Given the description of an element on the screen output the (x, y) to click on. 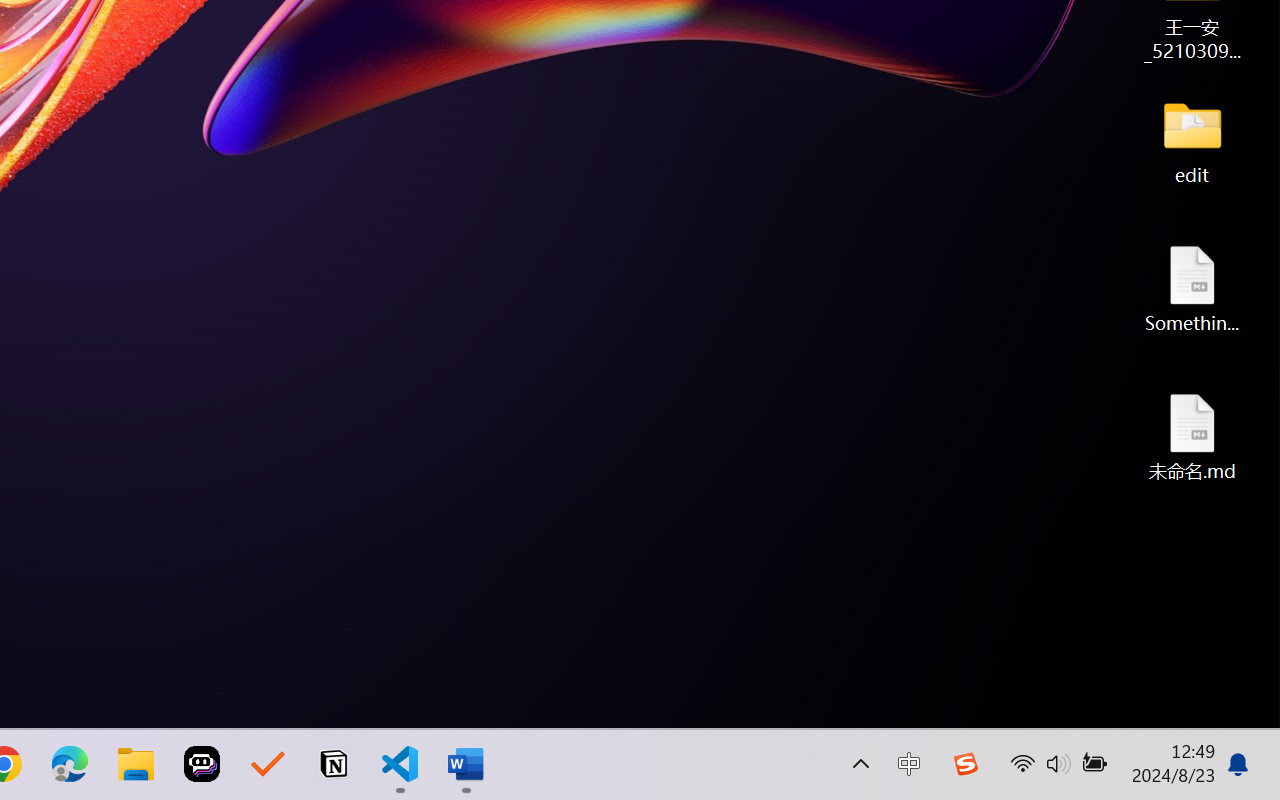
Microsoft Edge (69, 764)
edit (1192, 140)
